Given the description of an element on the screen output the (x, y) to click on. 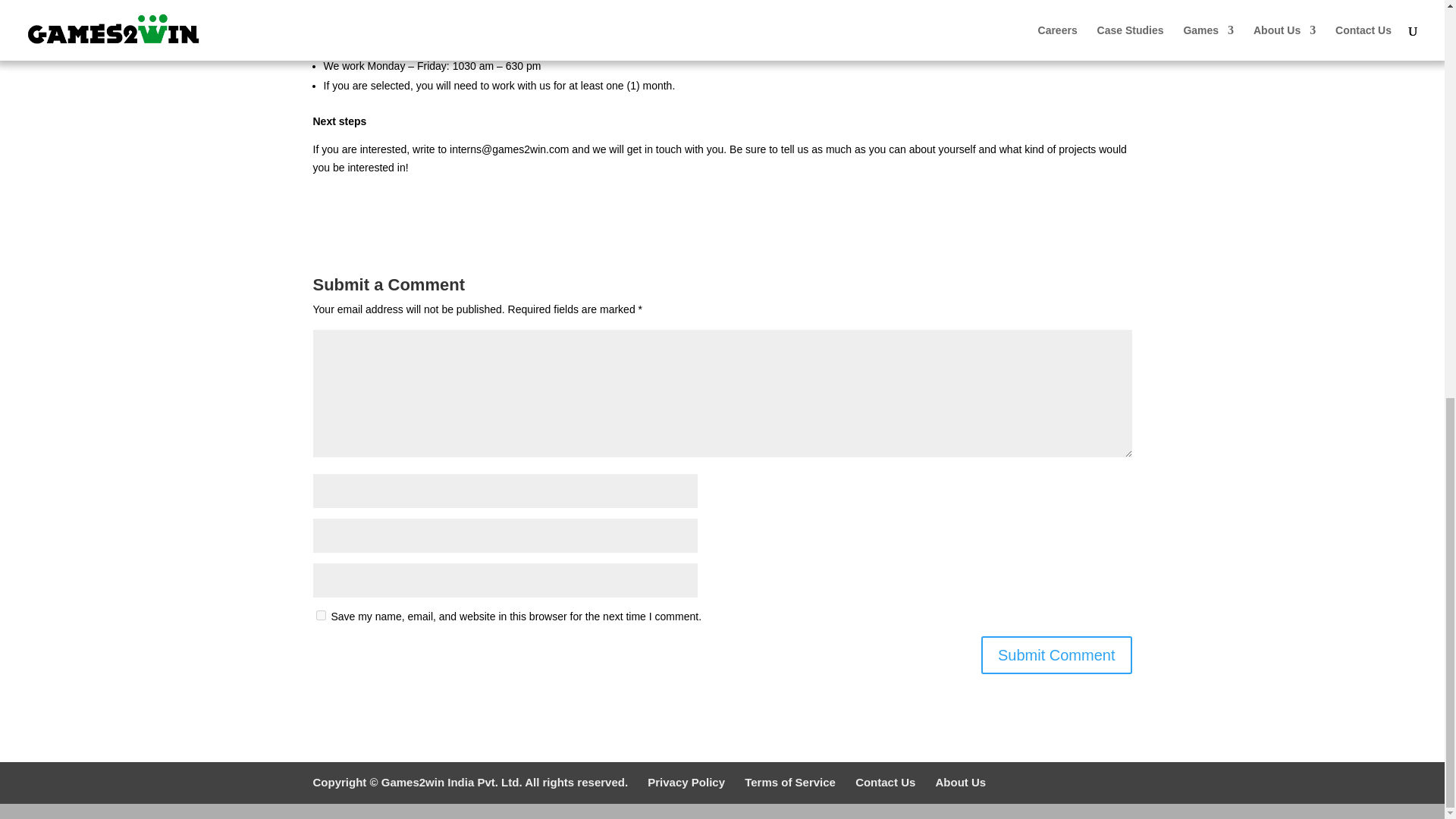
test-align:rigth (959, 781)
yes (319, 614)
Submit Comment (1056, 655)
